Given the description of an element on the screen output the (x, y) to click on. 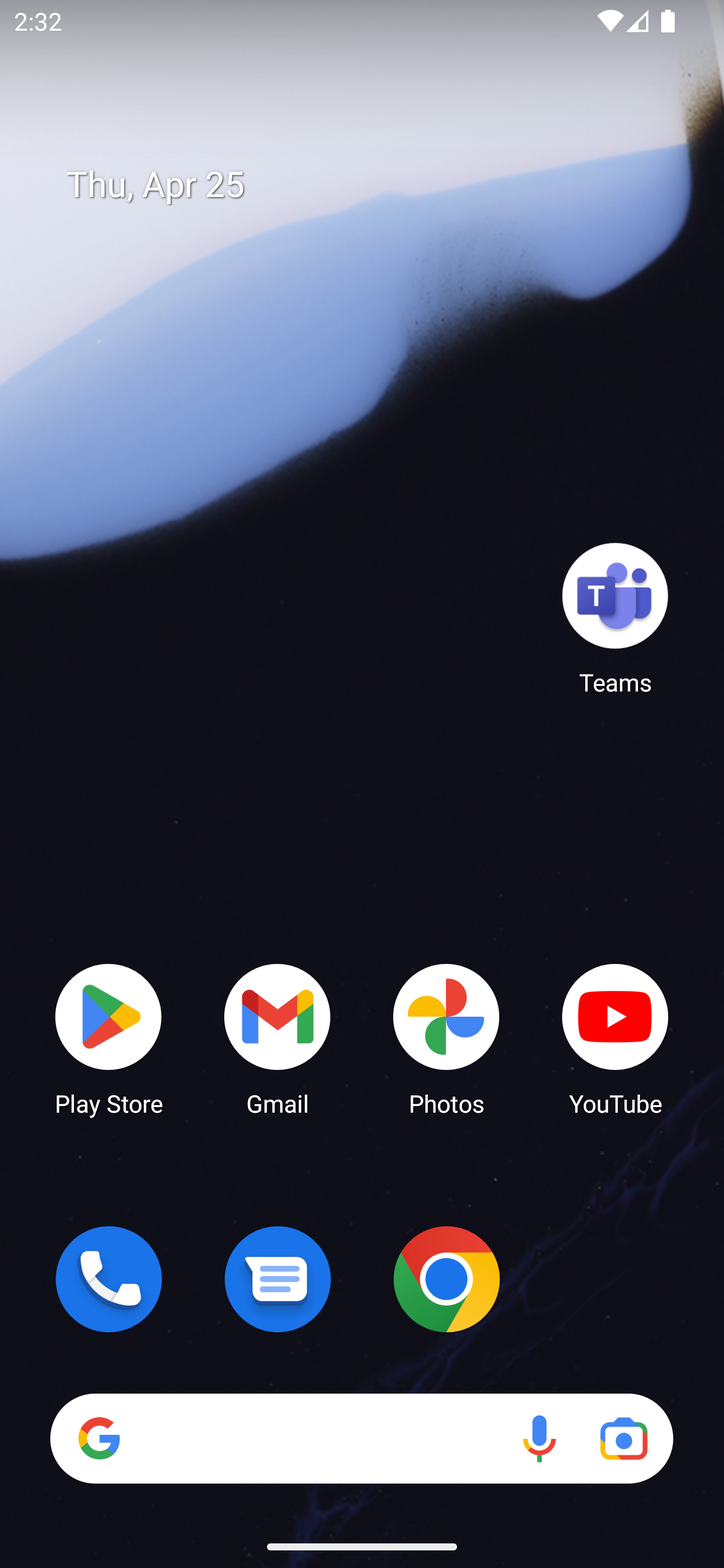
Thu, Apr 25 (375, 184)
Teams (615, 617)
Play Store (108, 1038)
Gmail (277, 1038)
Photos (445, 1038)
YouTube (615, 1038)
Phone (108, 1279)
Messages (277, 1279)
Chrome (446, 1279)
Search Voice search Google Lens (361, 1438)
Voice search (539, 1438)
Google Lens (623, 1438)
